Given the description of an element on the screen output the (x, y) to click on. 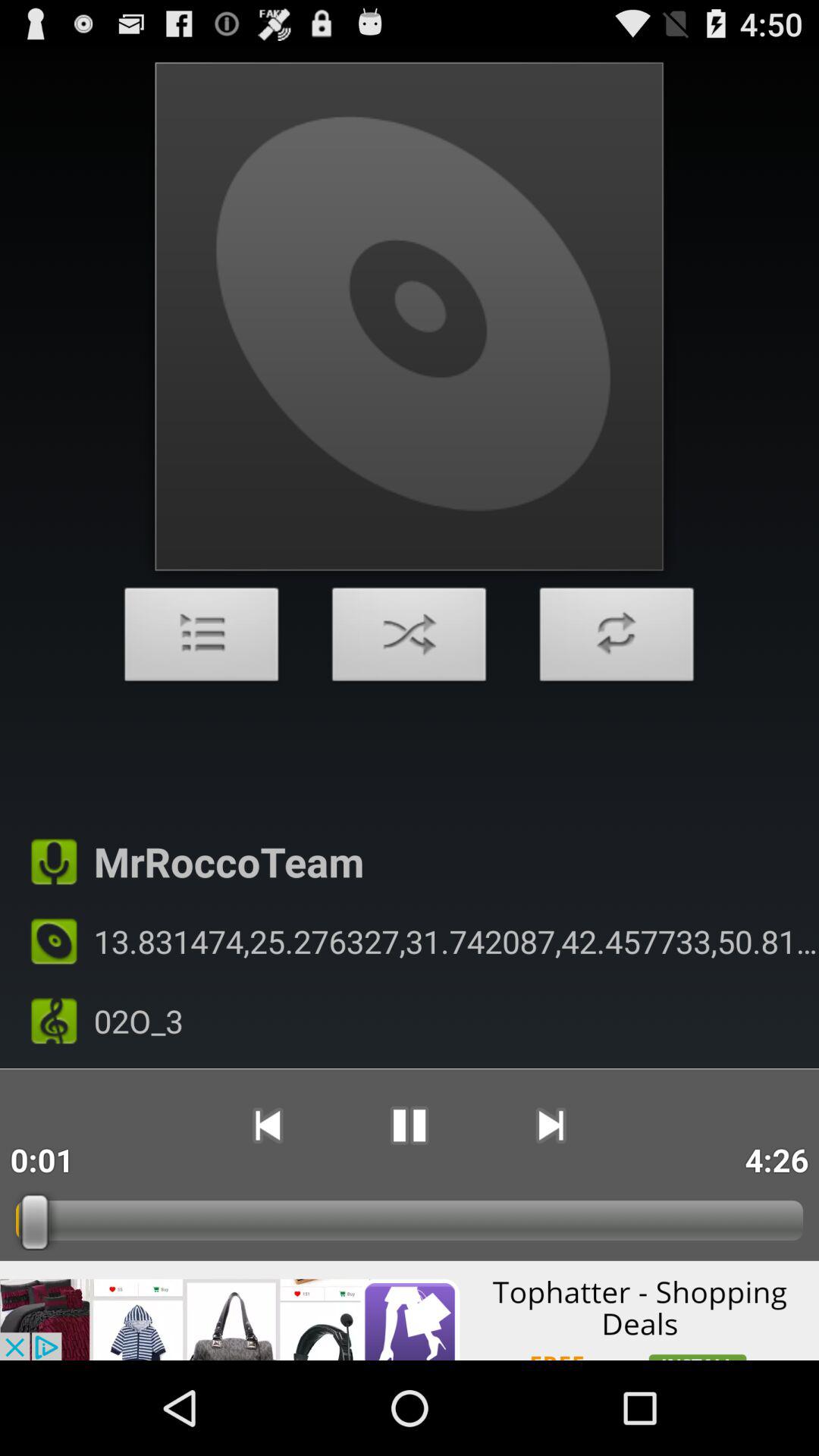
repeat song (616, 638)
